Given the description of an element on the screen output the (x, y) to click on. 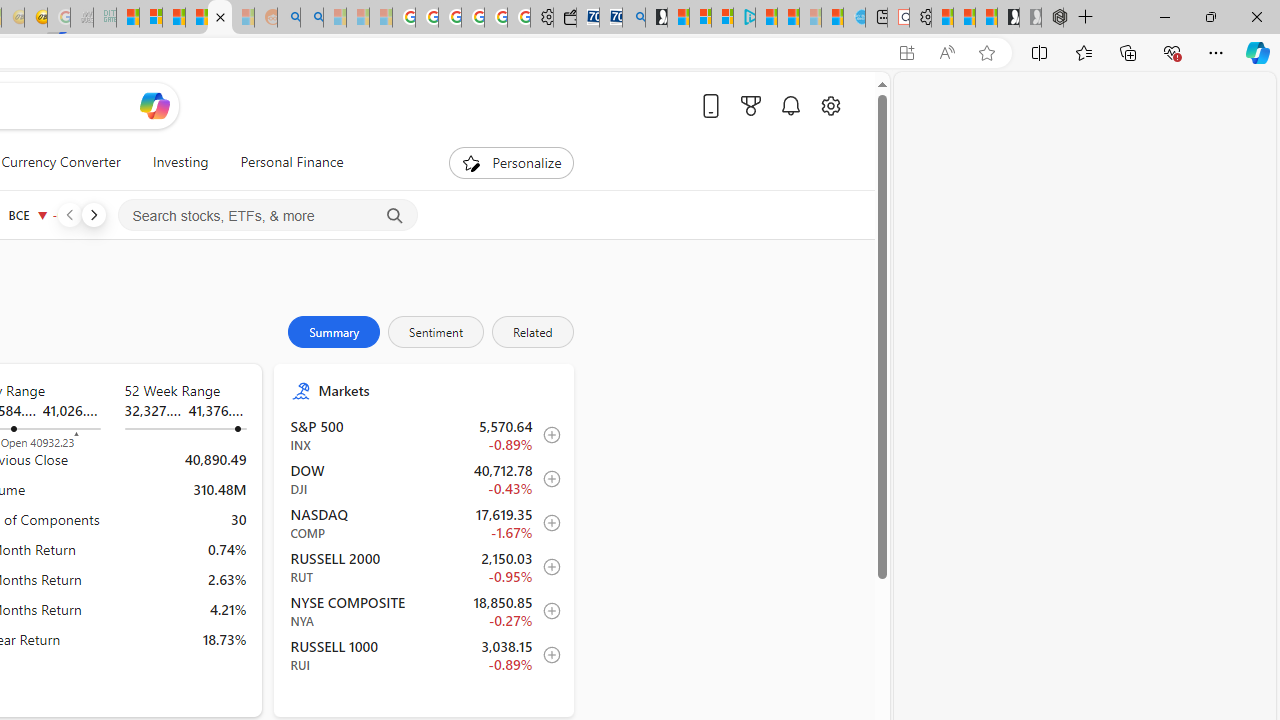
Markets (436, 390)
Personal Finance (284, 162)
Bing Real Estate - Home sales and rental listings (634, 17)
Cheap Car Rentals - Save70.com (611, 17)
Currency Converter (61, 162)
Summary (334, 331)
